Given the description of an element on the screen output the (x, y) to click on. 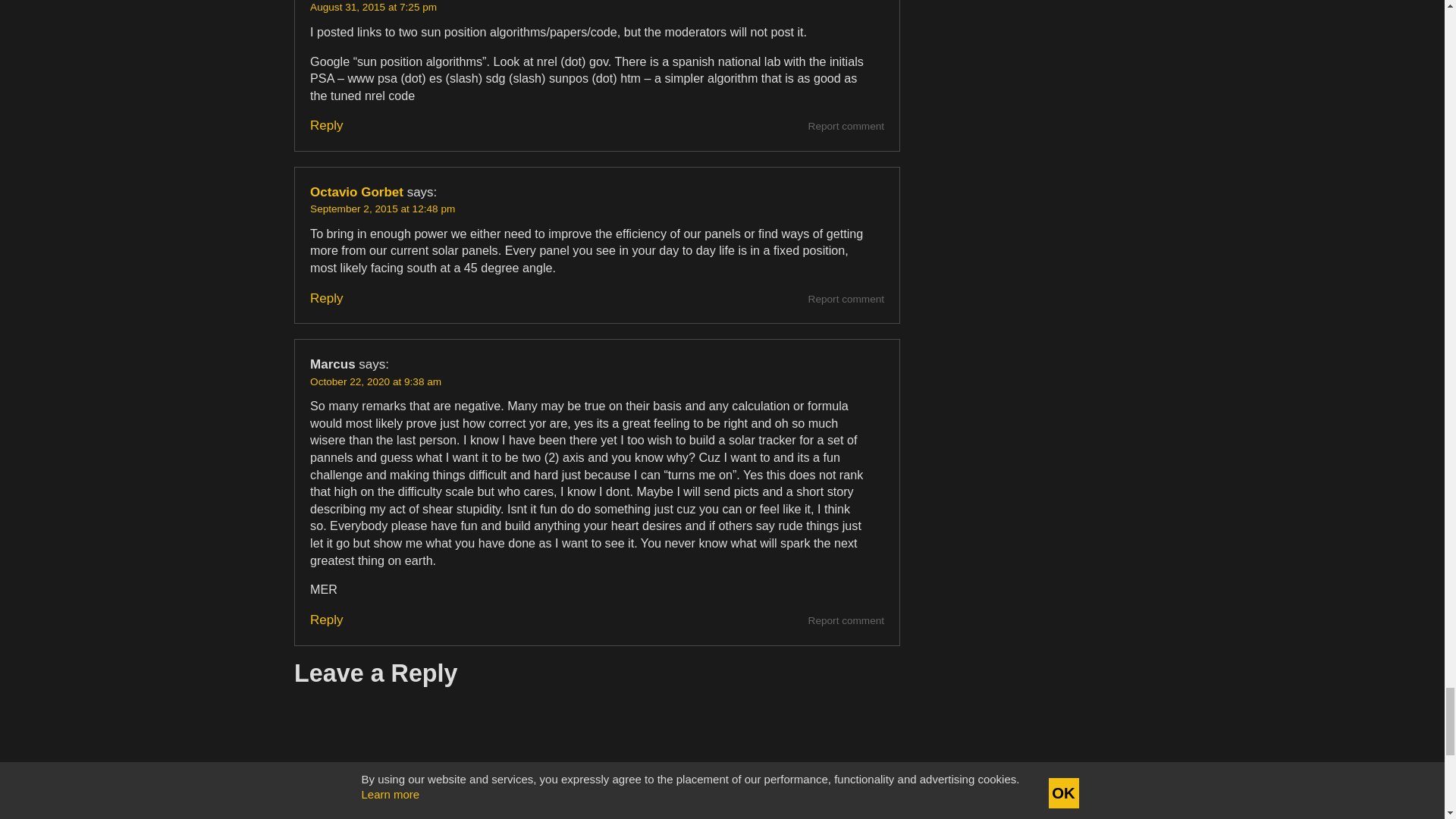
Comment Form (596, 752)
